Given the description of an element on the screen output the (x, y) to click on. 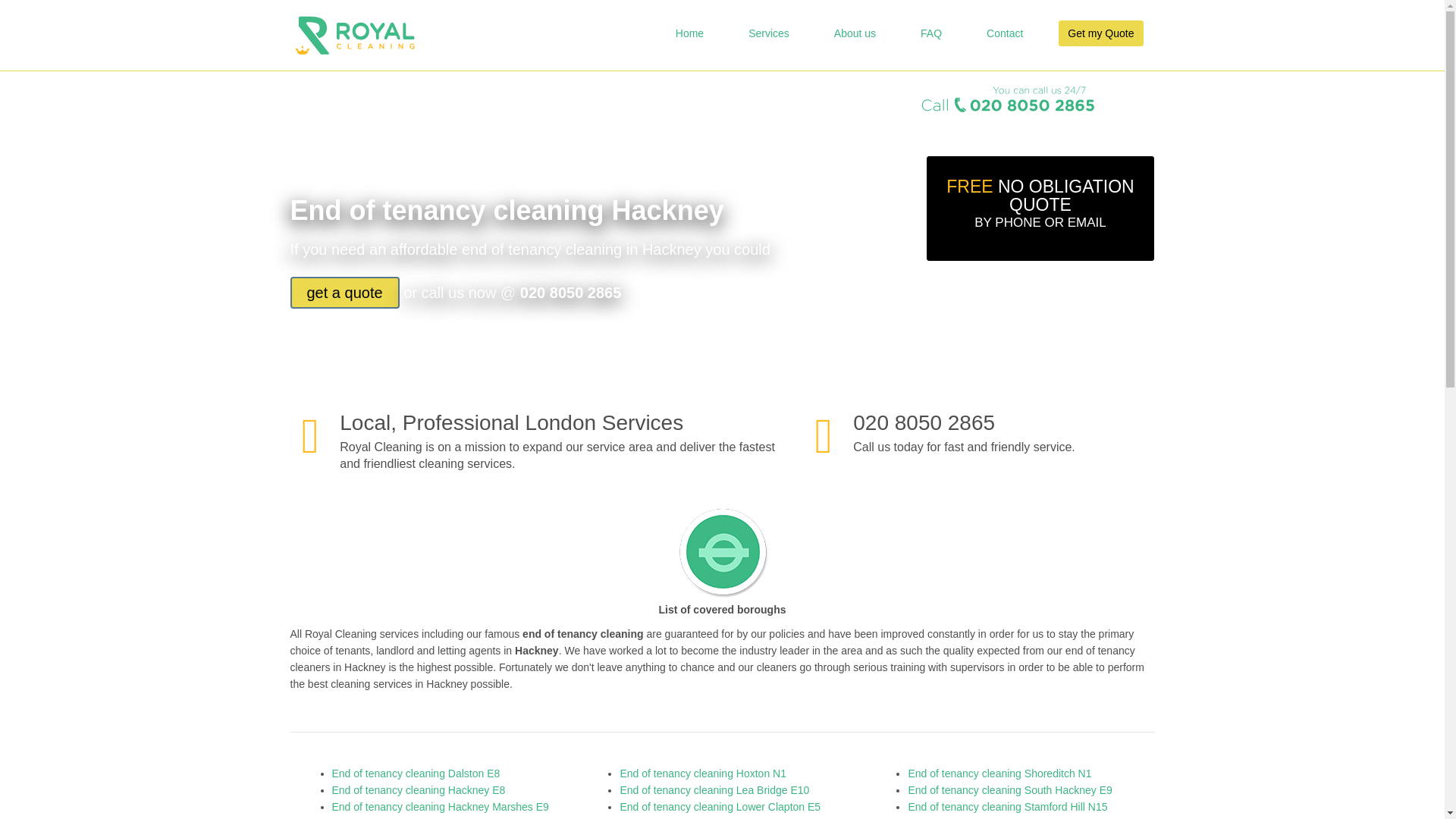
End of tenancy cleaning Hoxton N1 (703, 773)
Contact (1004, 32)
End of tenancy cleaning Stamford Hill N15 (1006, 806)
About us (855, 32)
End of tenancy cleaning Lea Bridge E10 (714, 789)
Services (768, 32)
End of tenancy cleaning Lower Clapton E5 (720, 806)
Royal Cleaning Logo (354, 34)
End of tenancy cleaning South Hackney E9 (1009, 789)
